Given the description of an element on the screen output the (x, y) to click on. 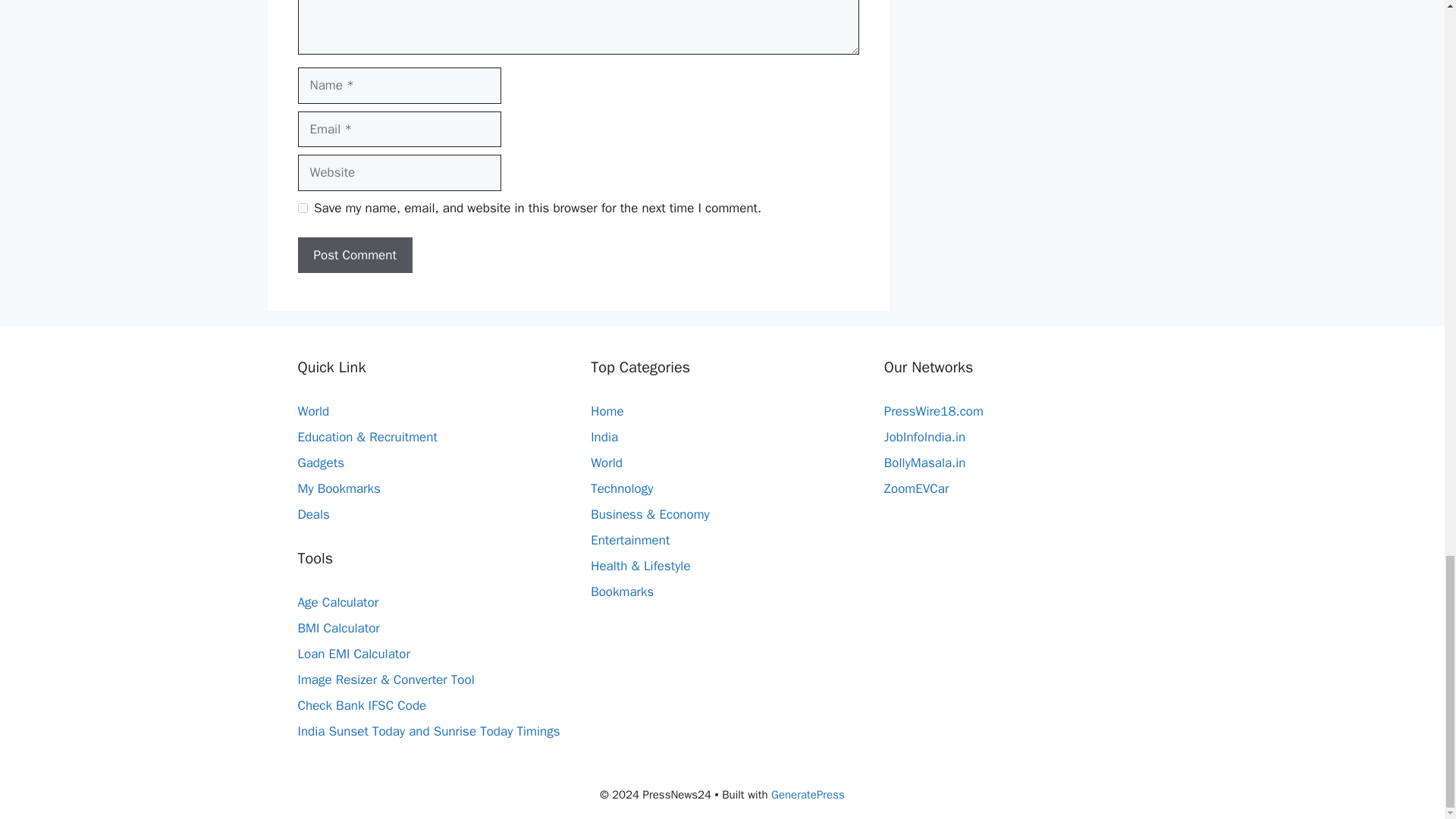
World (607, 462)
Age Calculator (337, 602)
Home (607, 411)
India (604, 437)
India Sunset Today and Sunrise Today Timings (428, 731)
My Bookmarks (338, 488)
Post Comment (354, 255)
BMI Calculator (337, 627)
Deals (313, 514)
yes (302, 207)
